Given the description of an element on the screen output the (x, y) to click on. 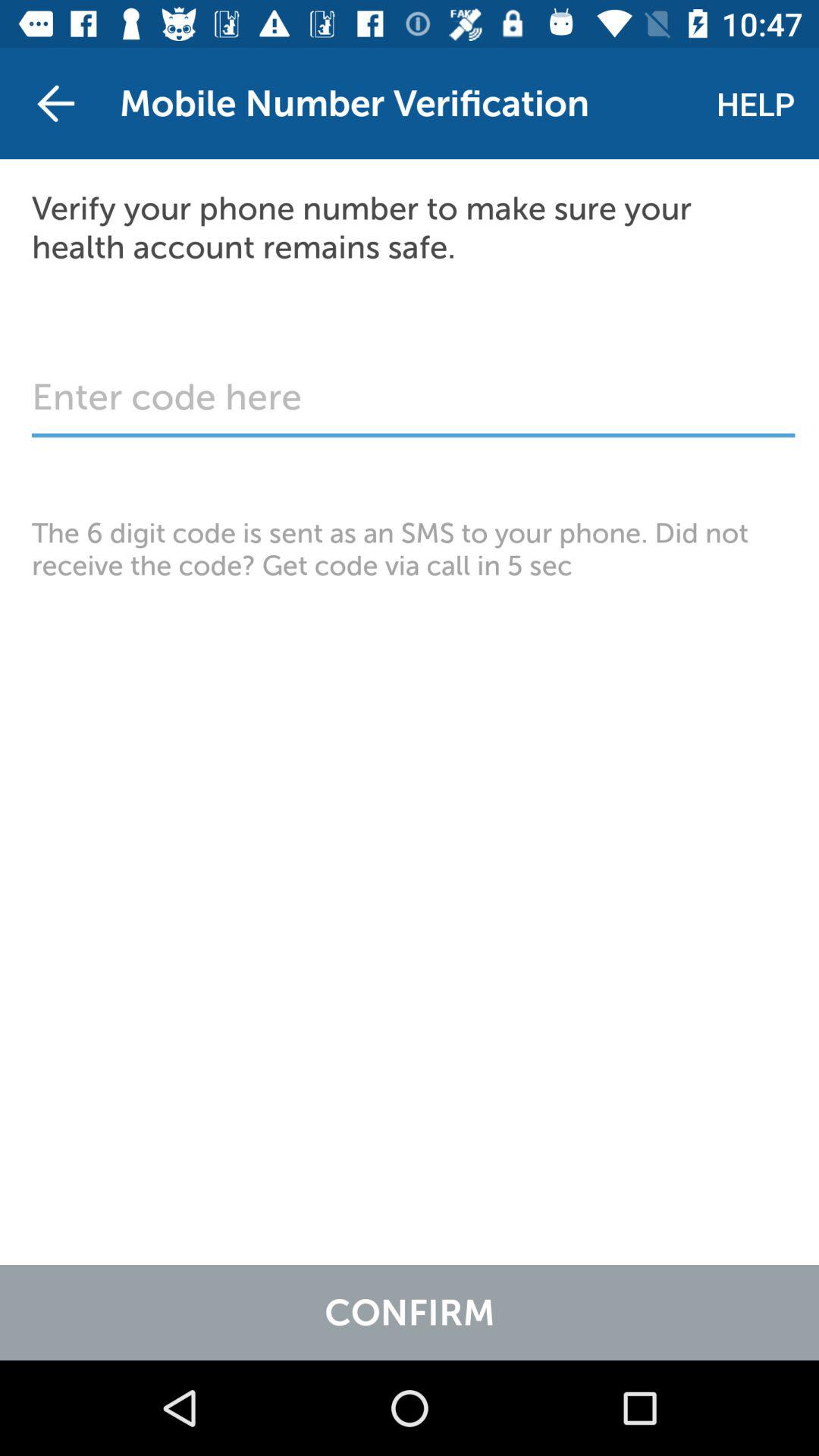
turn on the item next to mobile number verification item (755, 103)
